Given the description of an element on the screen output the (x, y) to click on. 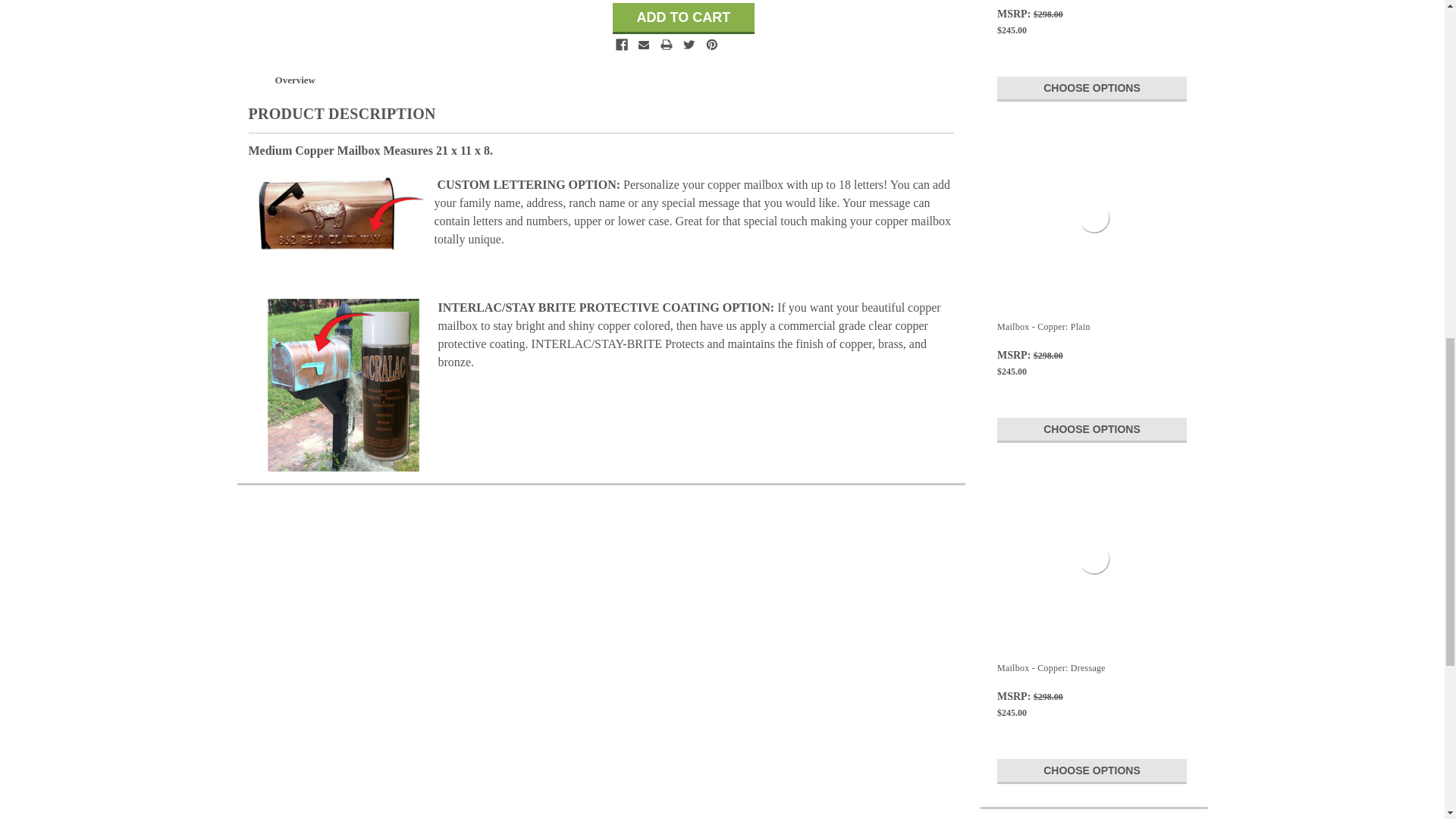
Mailbox - Copper: Plain (1094, 217)
Mailbox - Copper: Dressage (1094, 558)
Add to Cart (683, 18)
sr-add-lettering-option.png (341, 213)
